Given the description of an element on the screen output the (x, y) to click on. 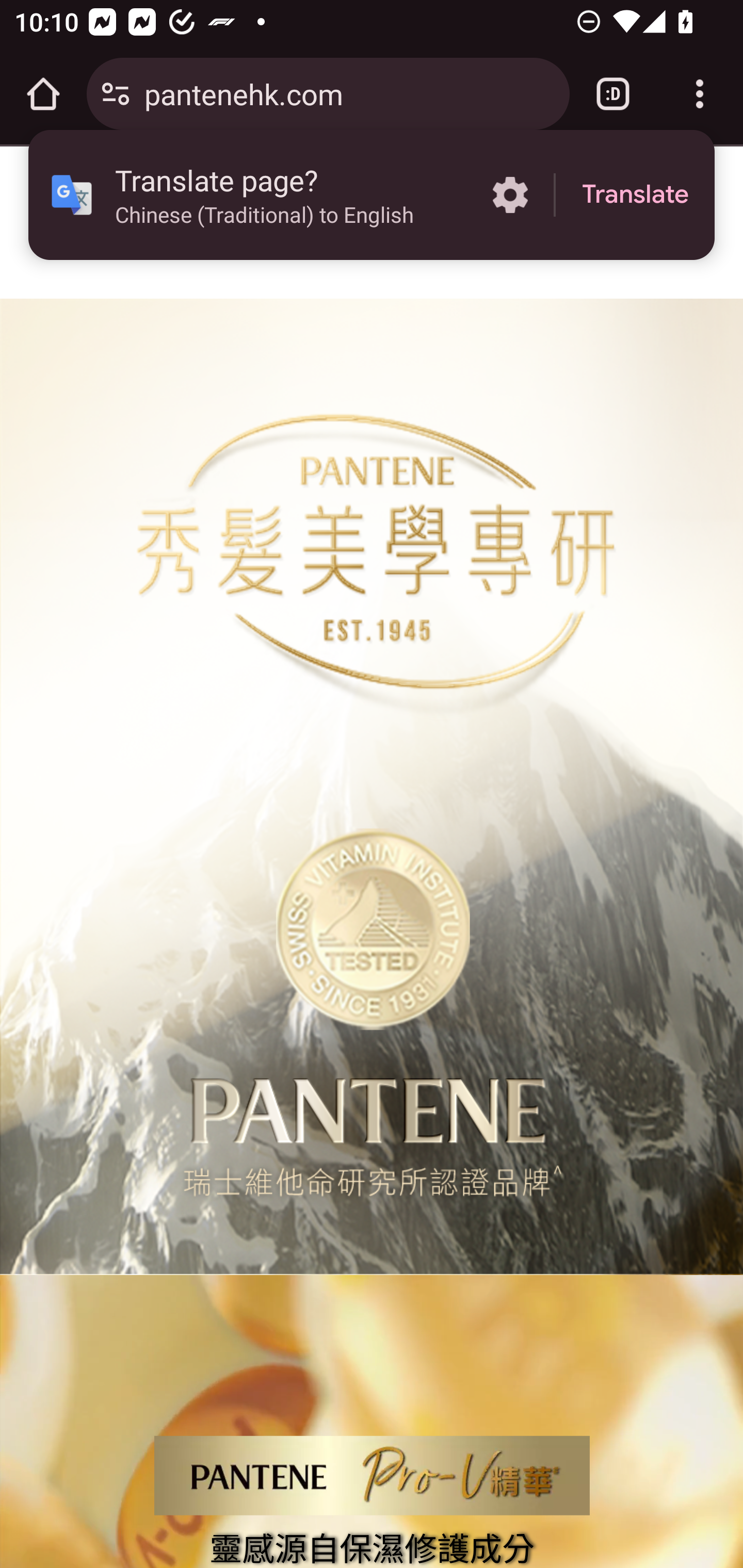
Open the home page (43, 93)
Connection is secure (115, 93)
Switch or close tabs (612, 93)
Customize and control Google Chrome (699, 93)
pantenehk.com (349, 92)
Translate (634, 195)
More options in the Translate page? (509, 195)
